Given the description of an element on the screen output the (x, y) to click on. 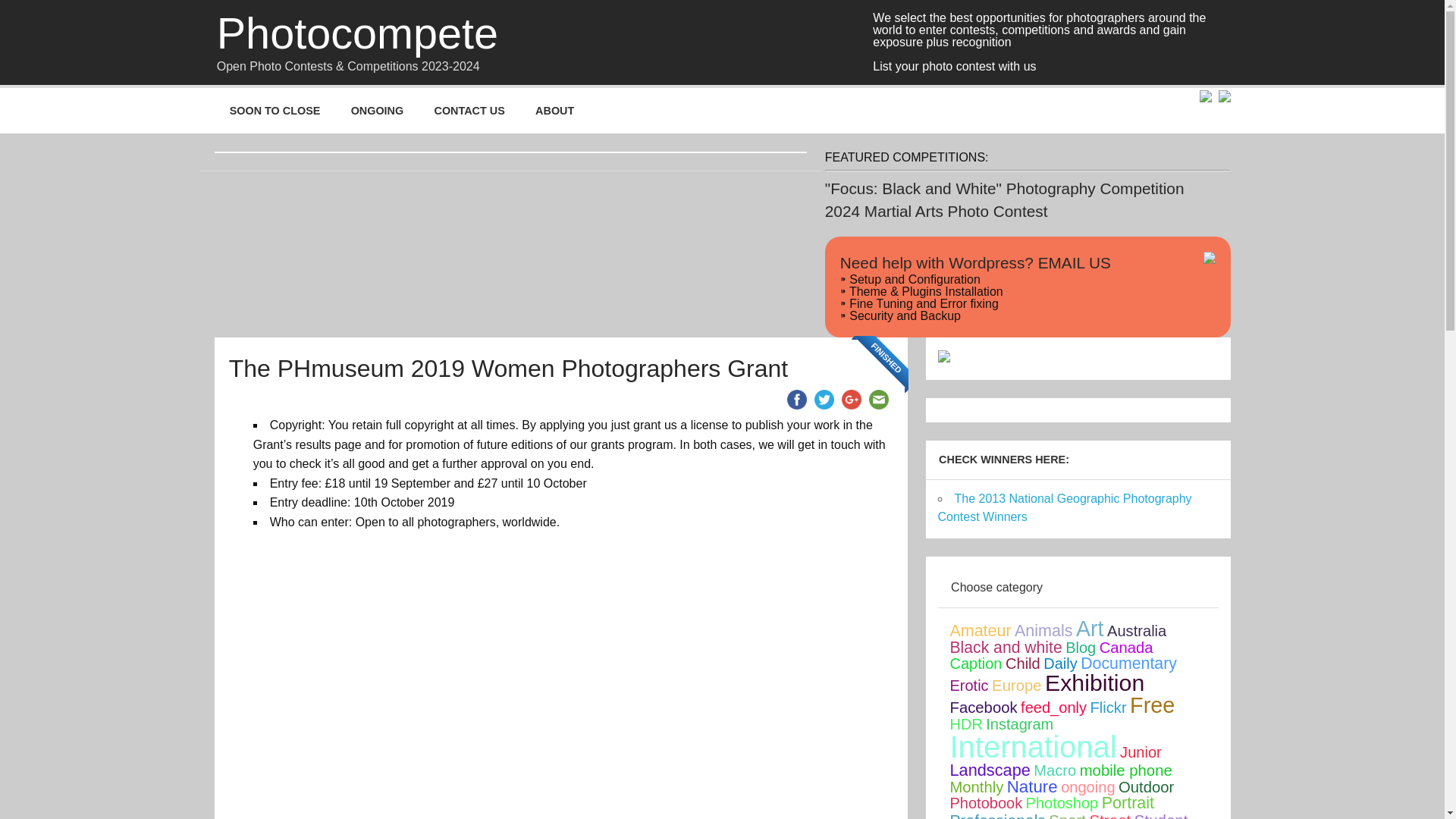
60 topics (1126, 647)
321 topics (1042, 630)
SOON TO CLOSE (274, 110)
2 topics (975, 663)
2024 Martial Arts Photo Contest (936, 211)
"Focus: Black and White" Photography Competition (1005, 188)
35 topics (1023, 663)
Photocompete (356, 34)
Photocompete (356, 34)
1835 topics (1089, 628)
4 topics (1080, 647)
Australia (1136, 630)
CONTACT US (469, 110)
Email (878, 399)
ONGOING (376, 110)
